Given the description of an element on the screen output the (x, y) to click on. 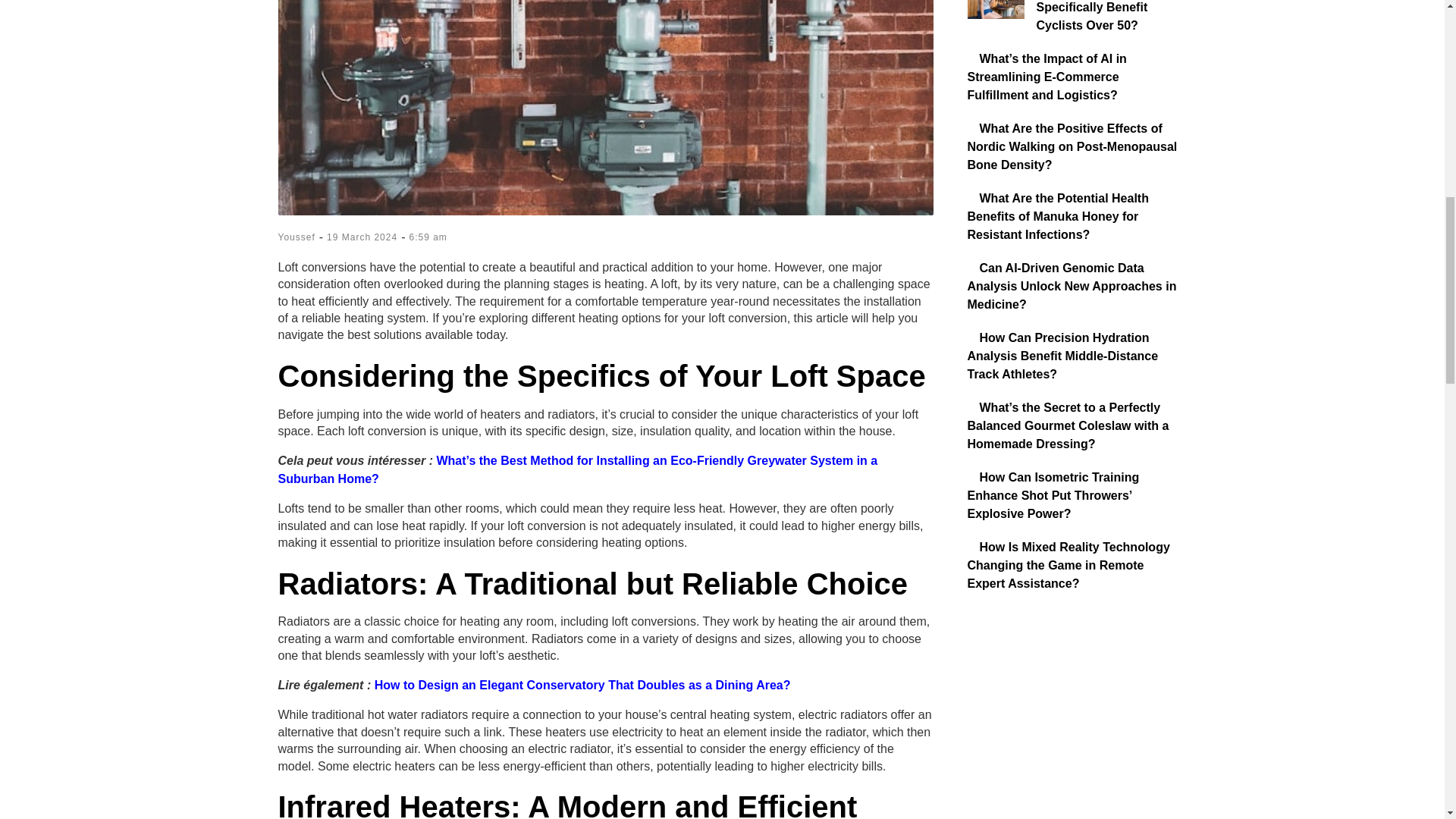
19 March 2024 (361, 237)
Youssef (296, 237)
6:59 am (427, 237)
